Given the description of an element on the screen output the (x, y) to click on. 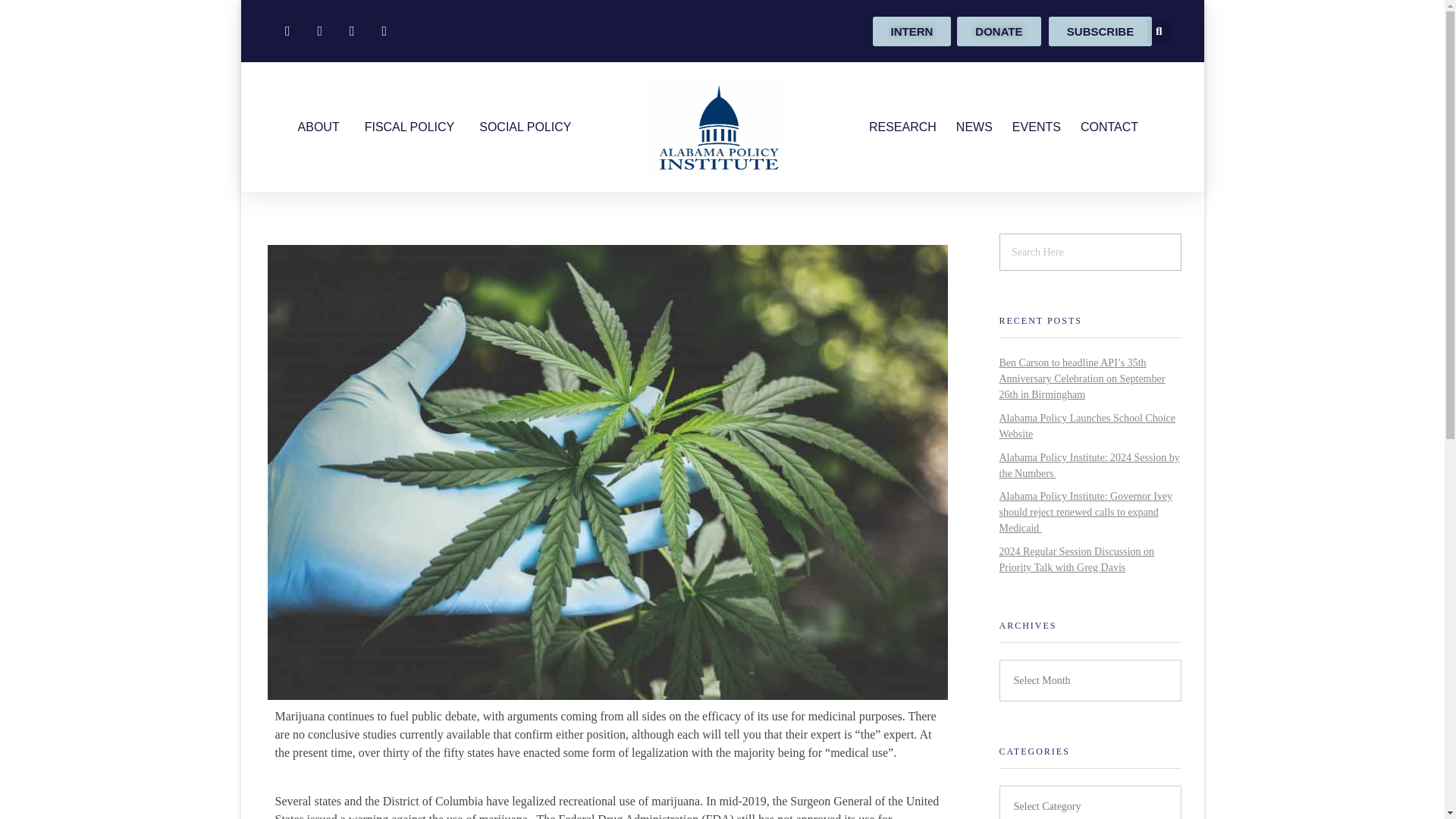
DONATE (998, 30)
FISCAL POLICY (409, 126)
SUBSCRIBE (1099, 30)
SOCIAL POLICY (524, 126)
ABOUT (318, 126)
INTERN (912, 30)
